Given the description of an element on the screen output the (x, y) to click on. 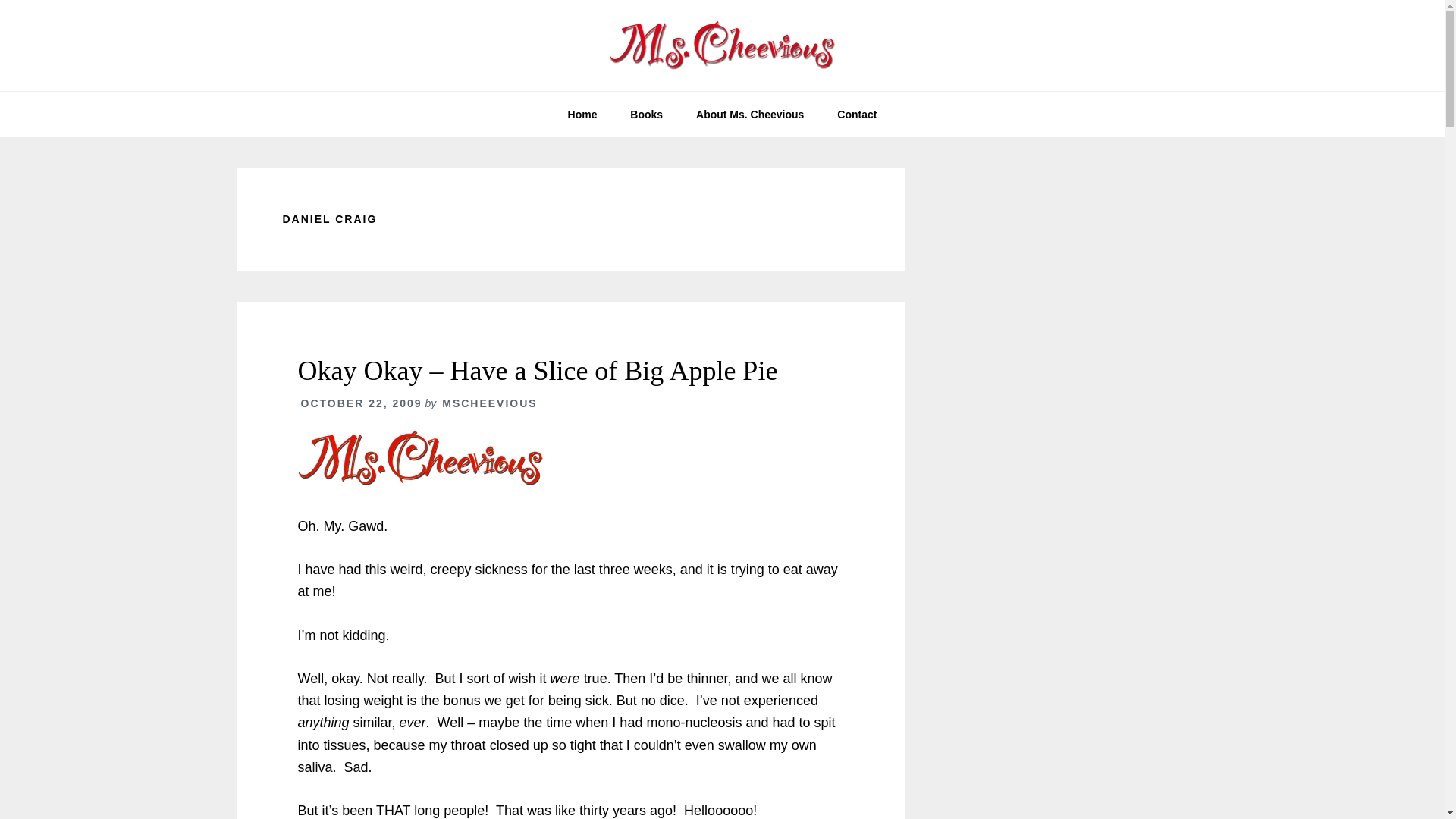
About Ms. Cheevious (749, 114)
MSCHEEVIOUS (489, 403)
Contact (856, 114)
Home (582, 114)
Books (646, 114)
Ms. Cheevious in Hollywood (721, 45)
